Given the description of an element on the screen output the (x, y) to click on. 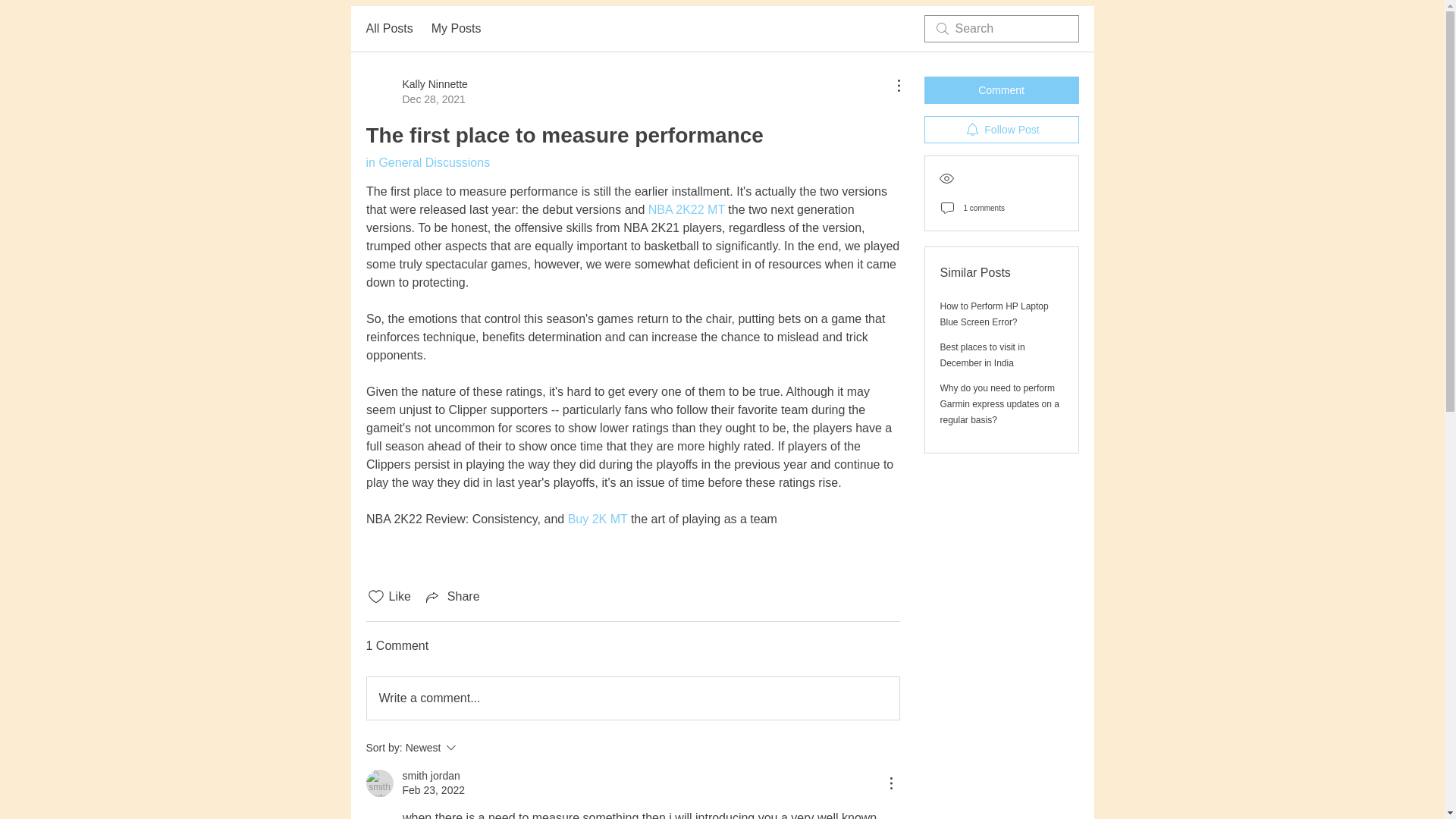
smith jordan (471, 747)
Share (416, 91)
in General Discussions (379, 782)
Write a comment... (451, 597)
My Posts (427, 162)
smith jordan (632, 698)
How to Perform HP Laptop Blue Screen Error? (455, 28)
Comment (430, 775)
